Given the description of an element on the screen output the (x, y) to click on. 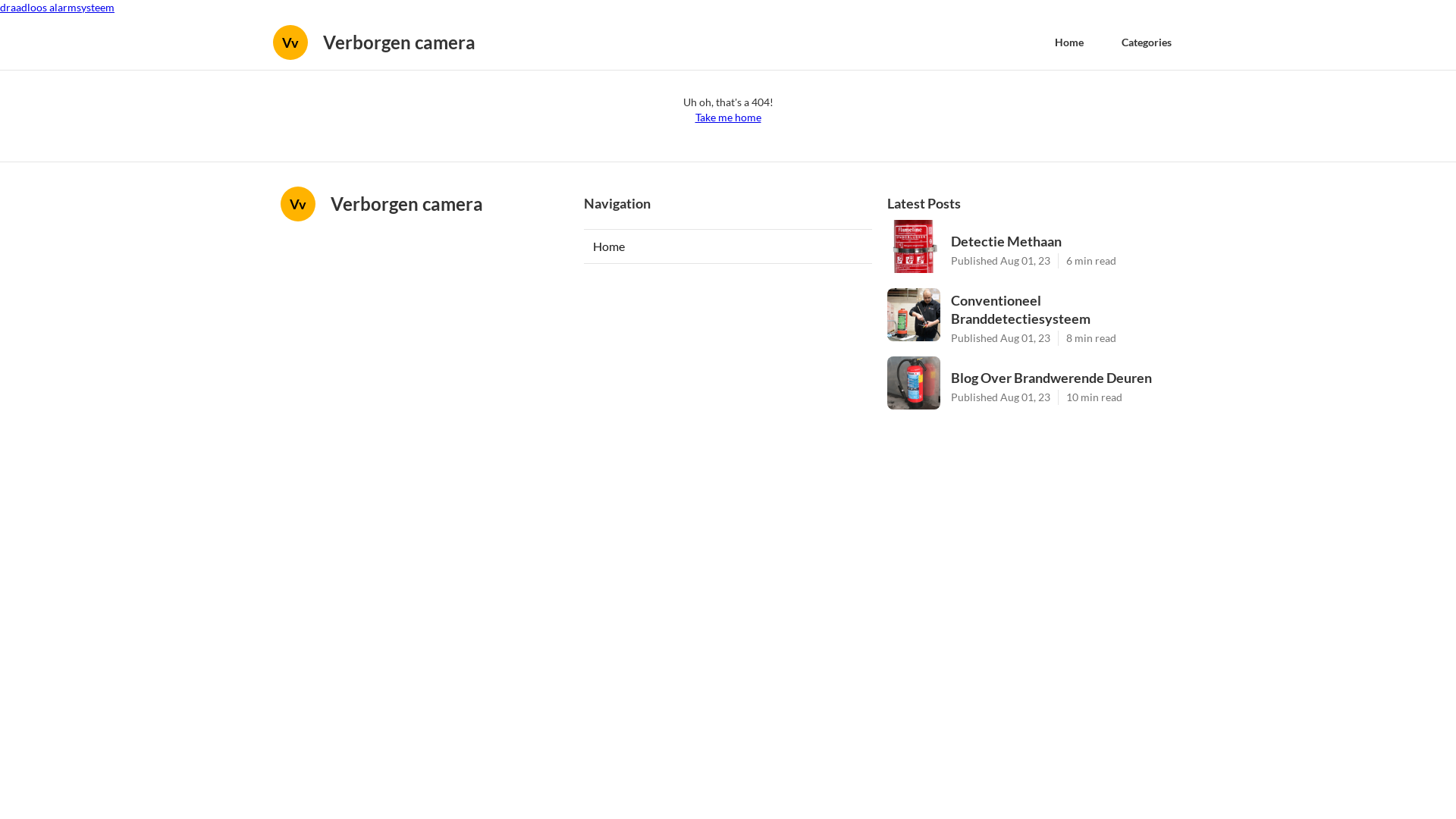
Categories Element type: text (1146, 42)
Home Element type: text (1069, 42)
Blog Over Brandwerende Deuren Element type: text (1062, 377)
Home Element type: text (727, 246)
Conventioneel Branddetectiesysteem Element type: text (1062, 309)
Detectie Methaan Element type: text (1062, 241)
Take me home Element type: text (727, 117)
draadloos alarmsysteem Element type: text (57, 6)
